Given the description of an element on the screen output the (x, y) to click on. 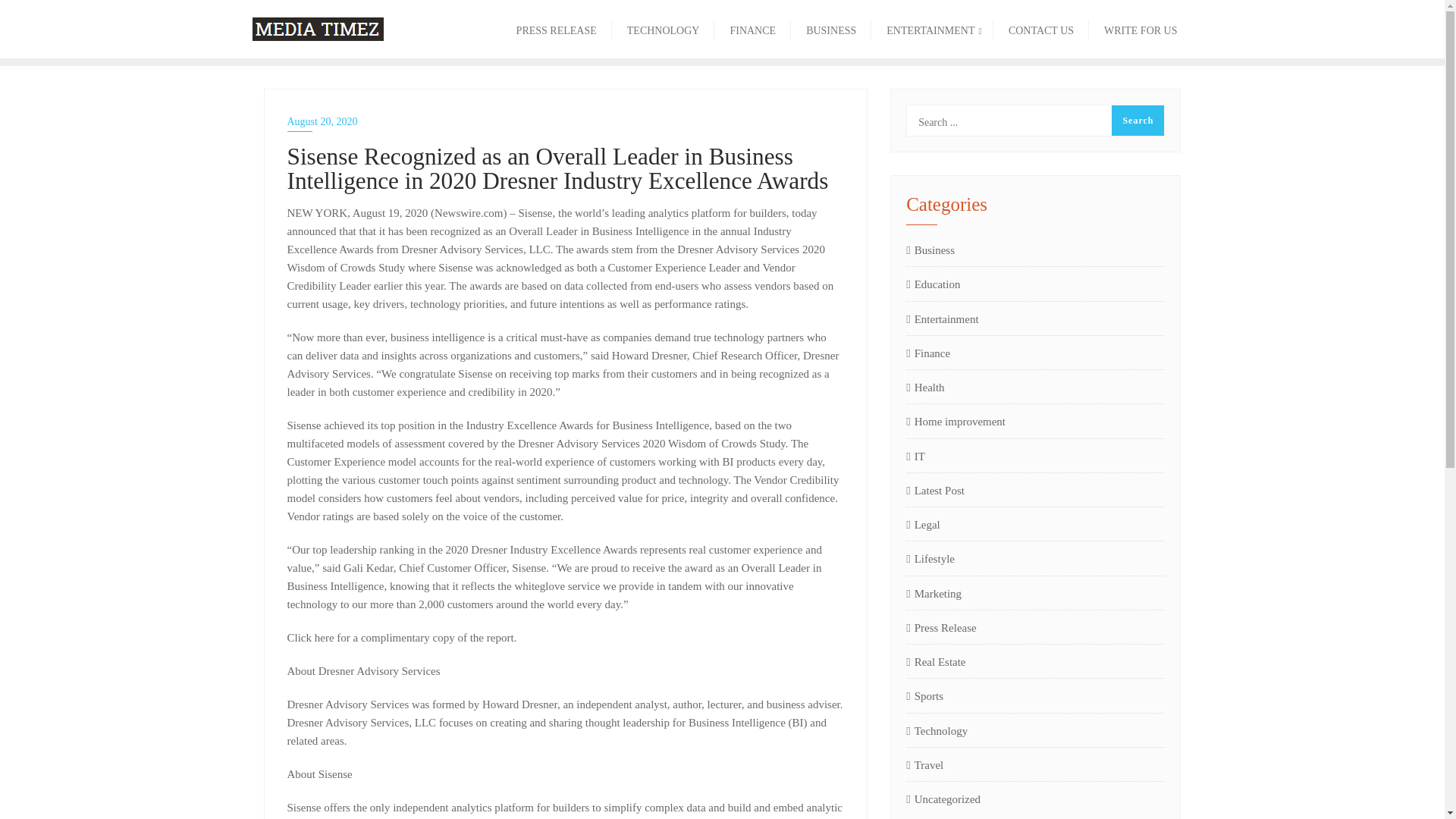
ENTERTAINMENT (931, 29)
Press Release (940, 628)
Business (930, 250)
Legal (922, 524)
IT (914, 456)
Home improvement (955, 421)
Marketing (932, 593)
FINANCE (752, 29)
TECHNOLOGY (662, 29)
Search (1137, 120)
Entertainment (941, 319)
Education (932, 284)
WRITE FOR US (1140, 29)
PRESS RELEASE (555, 29)
Latest Post (934, 490)
